Given the description of an element on the screen output the (x, y) to click on. 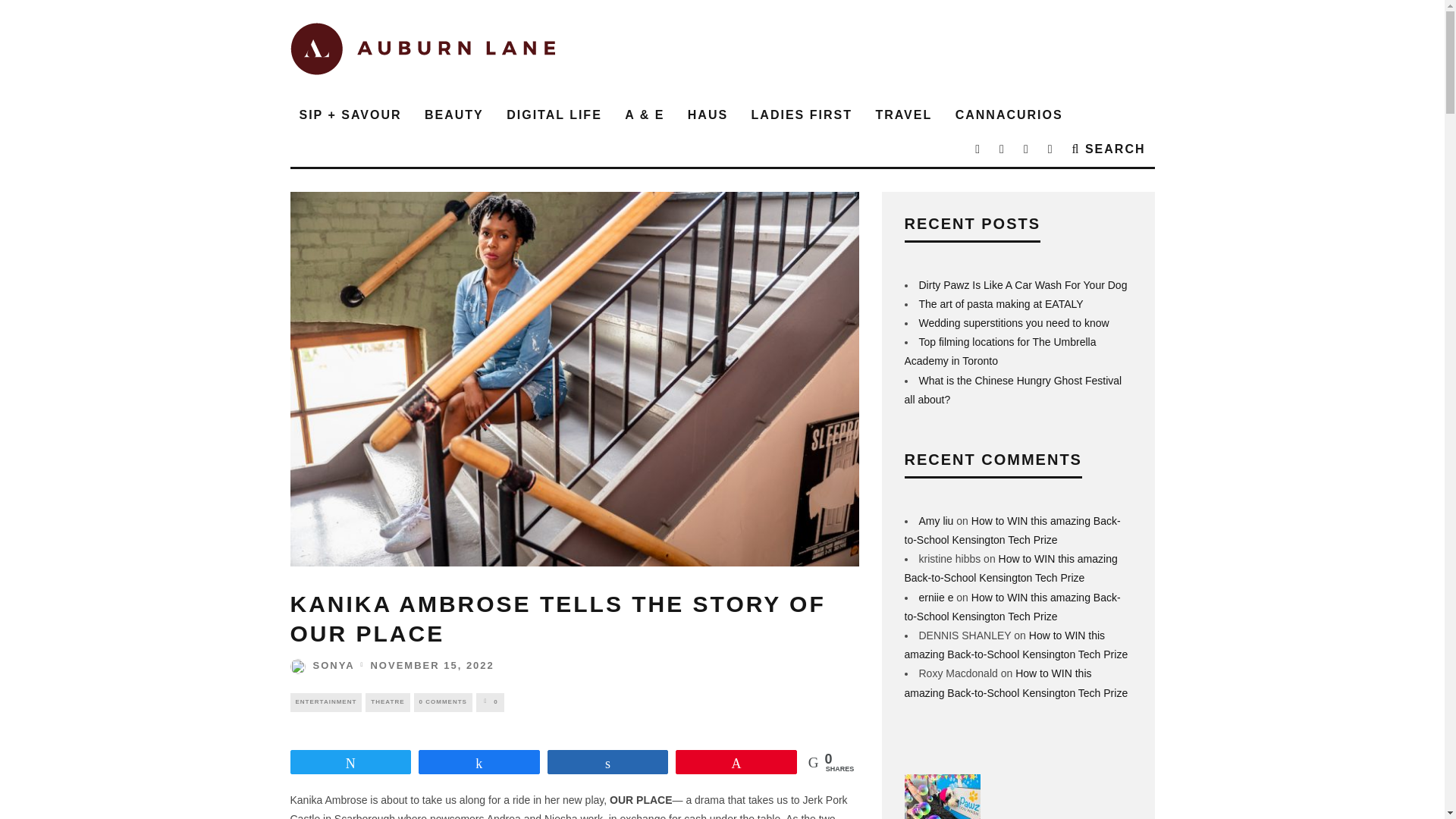
View all posts in Entertainment (325, 701)
View all posts in Theatre (387, 701)
Search (1108, 149)
Advertisement (878, 49)
